Given the description of an element on the screen output the (x, y) to click on. 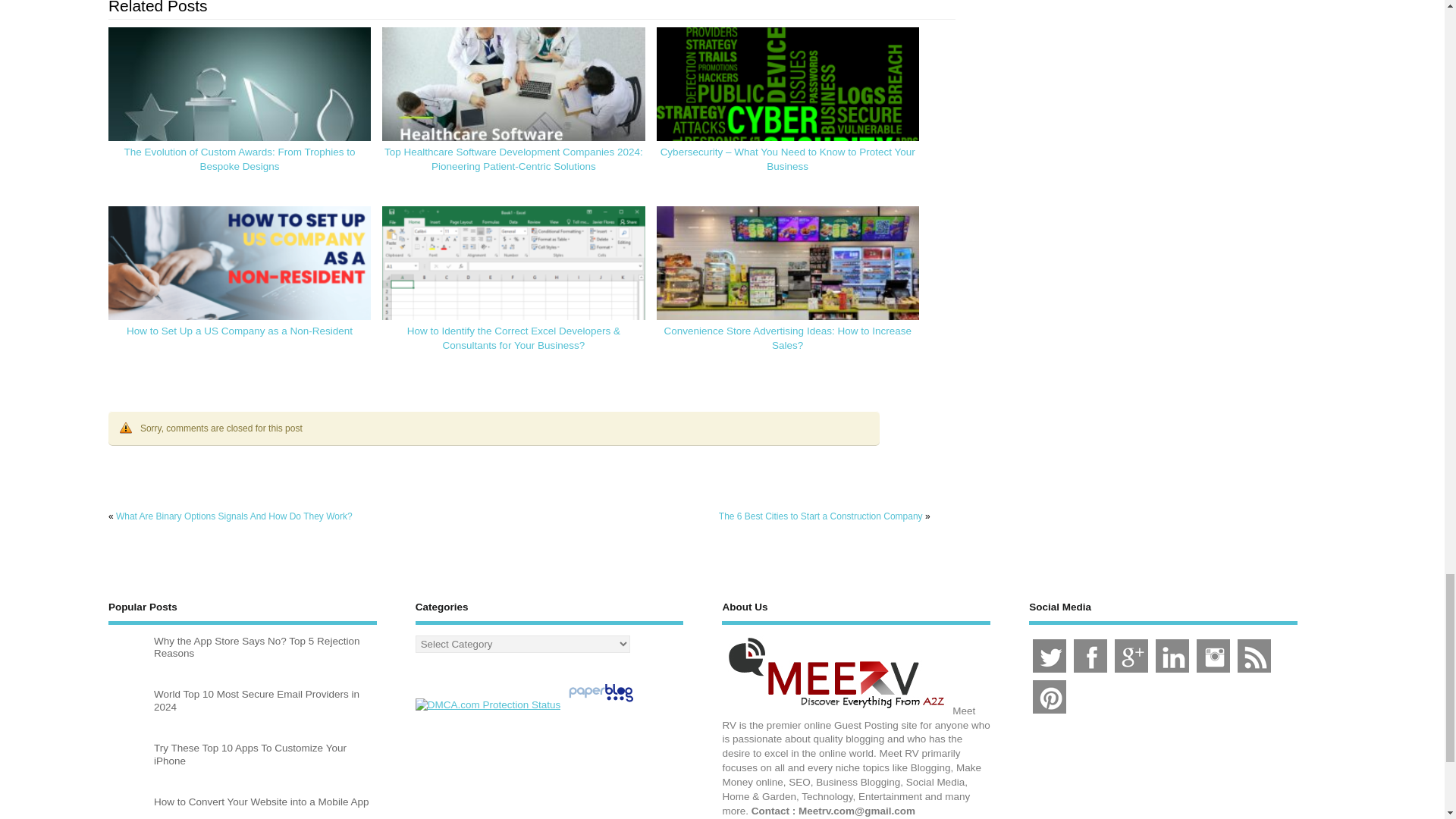
How to Set Up a US Company as a Non-Resident (239, 330)
How to Set Up a US Company as a Non-Resident (239, 279)
